Given the description of an element on the screen output the (x, y) to click on. 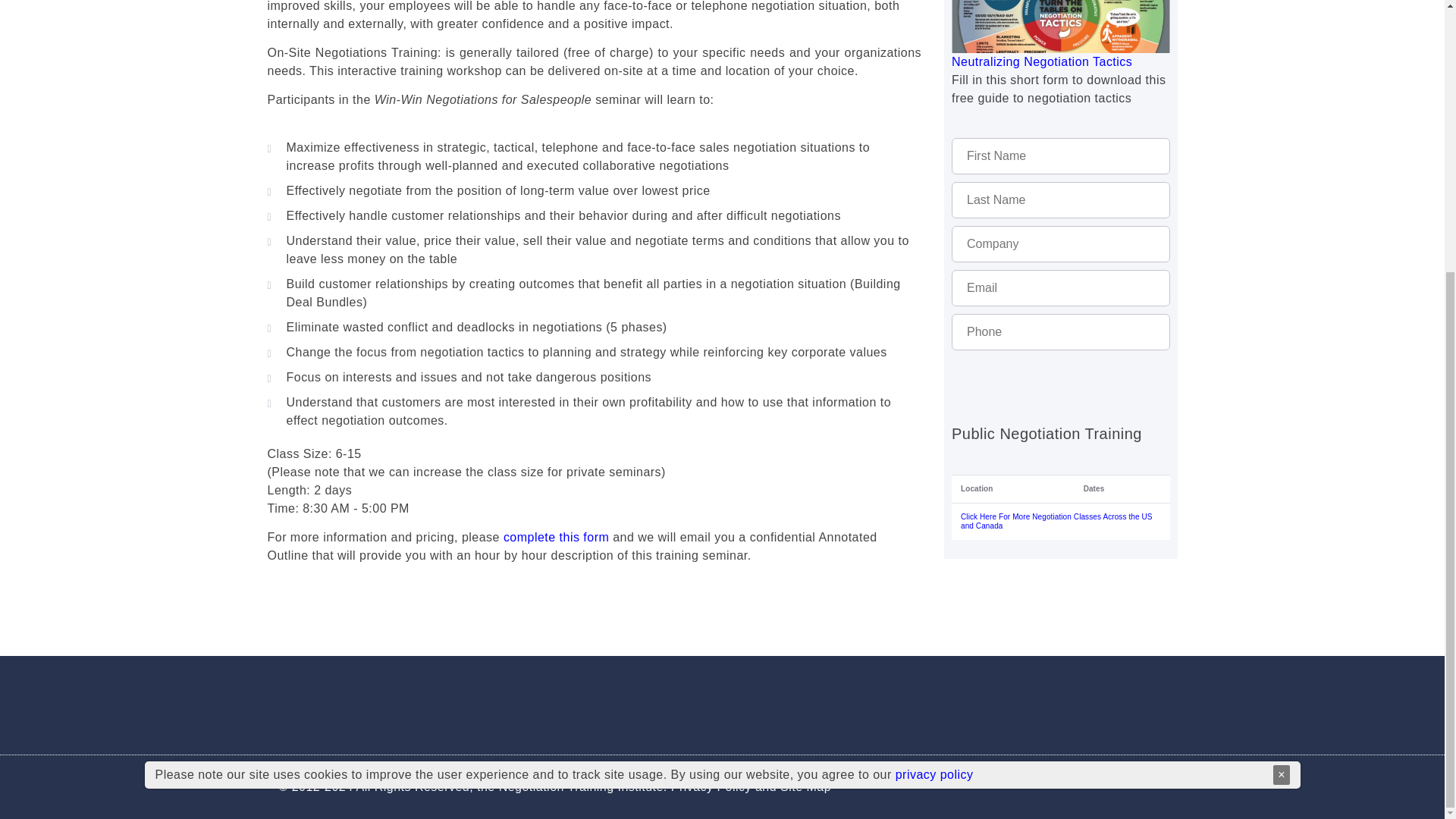
Privacy Policy (711, 786)
privacy policy (934, 374)
Site Map (805, 786)
Neutralizing Negotiation Tactics (1061, 33)
complete this form (555, 536)
Click on Location, Classes or Date to sort. (1061, 507)
